Given the description of an element on the screen output the (x, y) to click on. 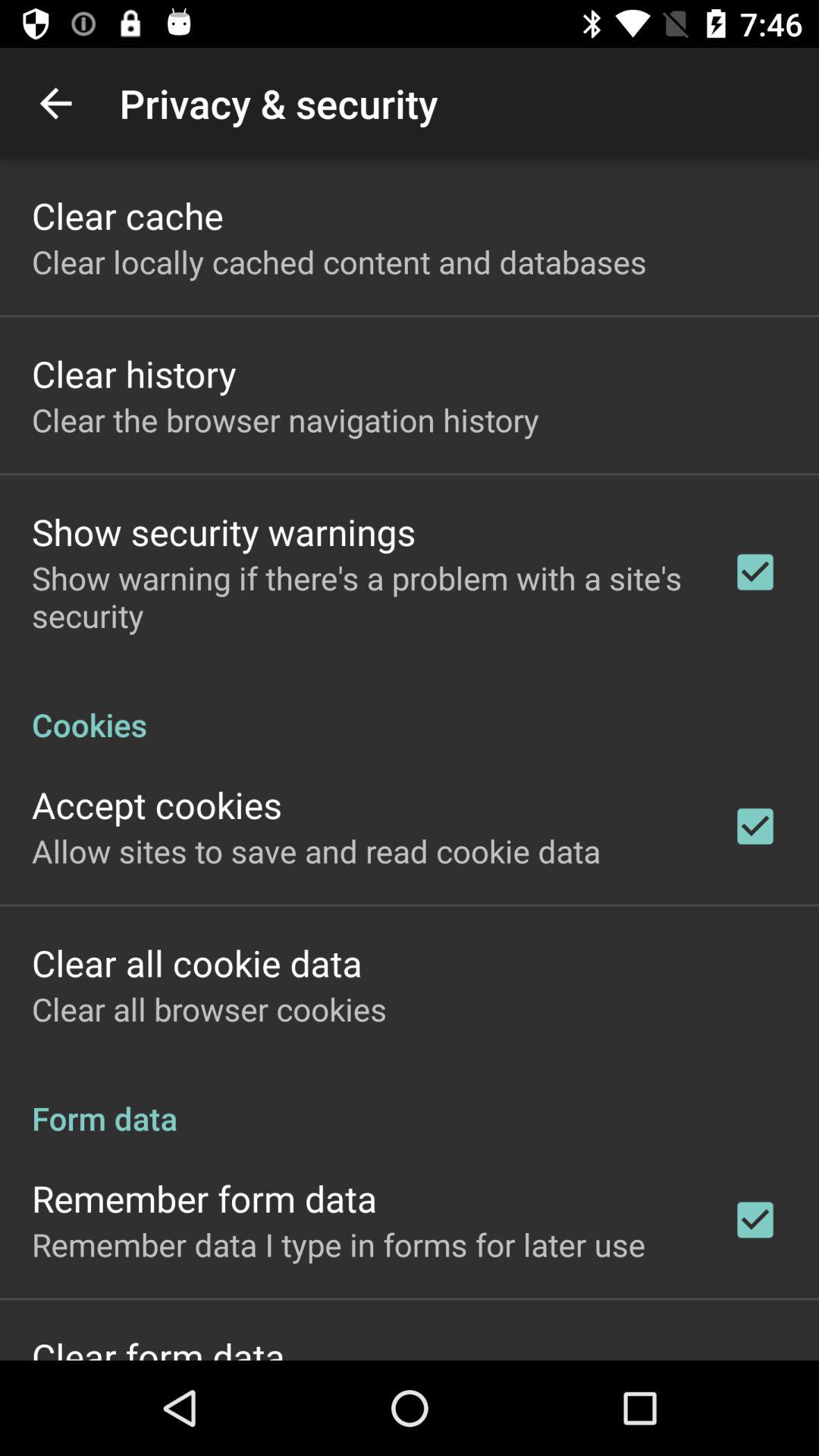
press app next to the privacy & security (55, 103)
